Given the description of an element on the screen output the (x, y) to click on. 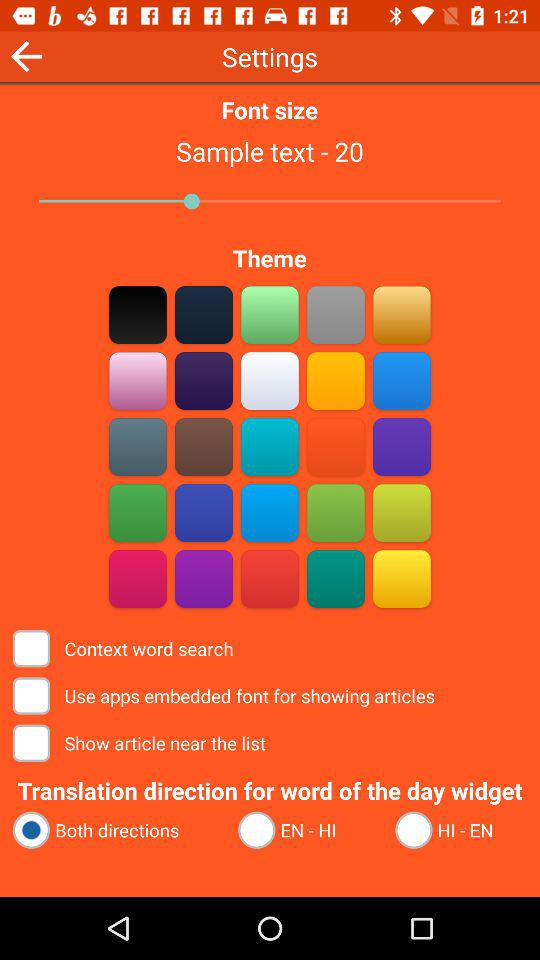
tap item above translation direction for icon (141, 742)
